Given the description of an element on the screen output the (x, y) to click on. 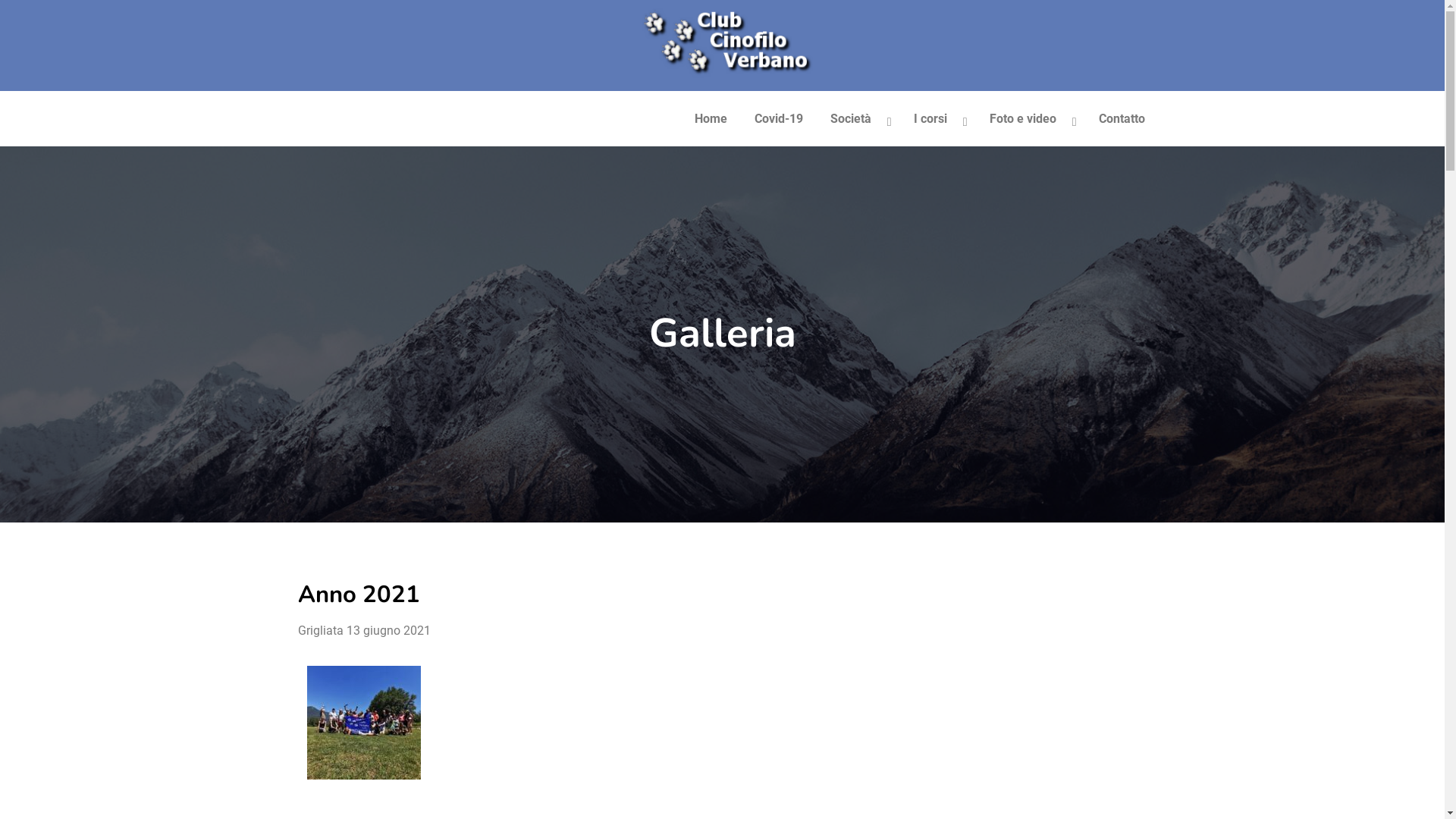
Home Element type: text (710, 118)
Covid-19 Element type: text (778, 118)
Contatto Element type: text (1121, 118)
Foto e video Element type: text (1030, 118)
I corsi Element type: text (937, 118)
